Given the description of an element on the screen output the (x, y) to click on. 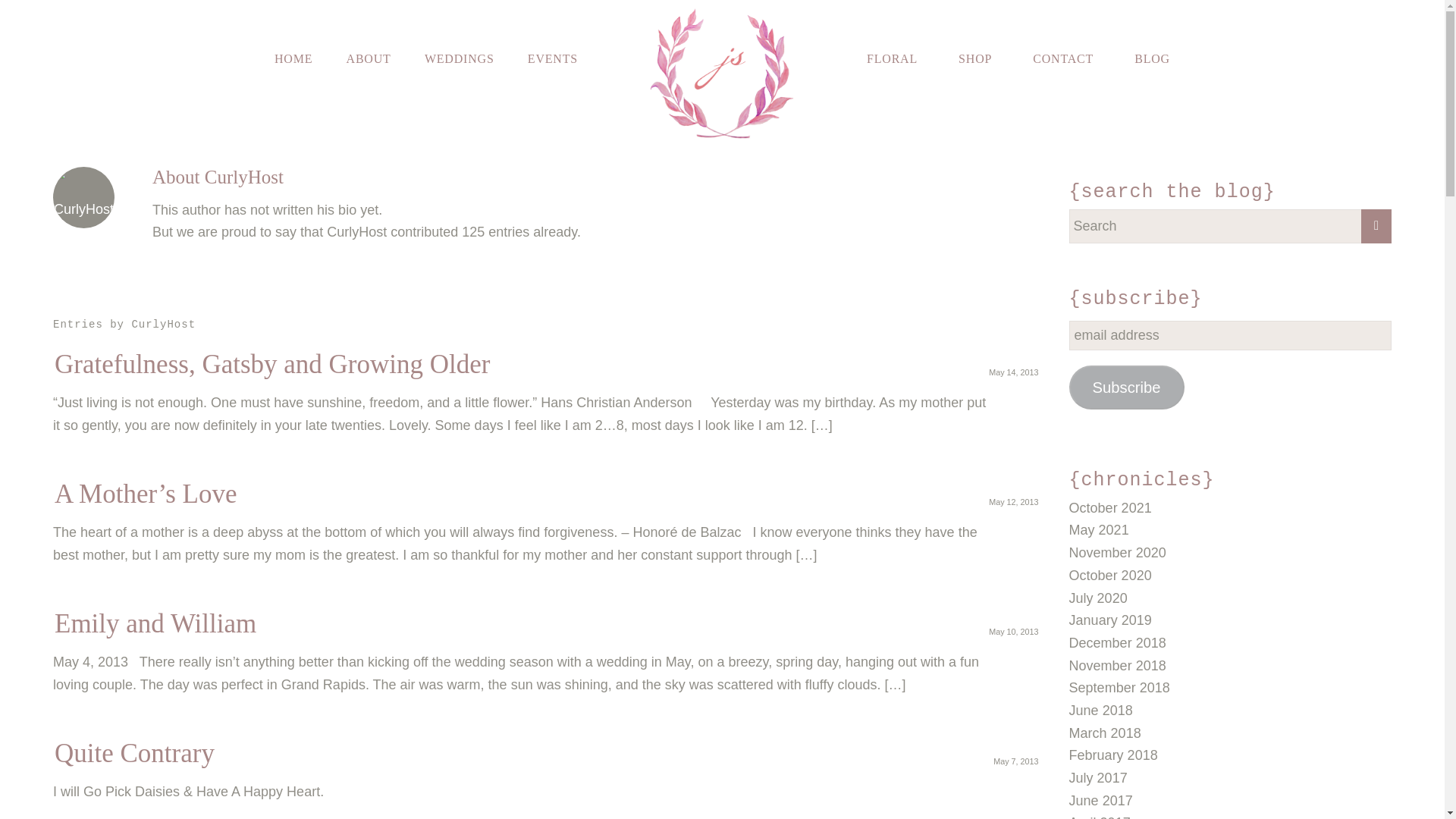
CONTACT (1062, 58)
Emily and William (155, 623)
Quite Contrary (134, 753)
Permanent Link: Gratefulness, Gatsby and Growing Older (272, 364)
WEDDINGS (460, 58)
Permanent Link: Quite Contrary (134, 753)
FLORAL (891, 58)
Gratefulness, Gatsby and Growing Older (272, 364)
Permanent Link: Emily and William (155, 623)
